Given the description of an element on the screen output the (x, y) to click on. 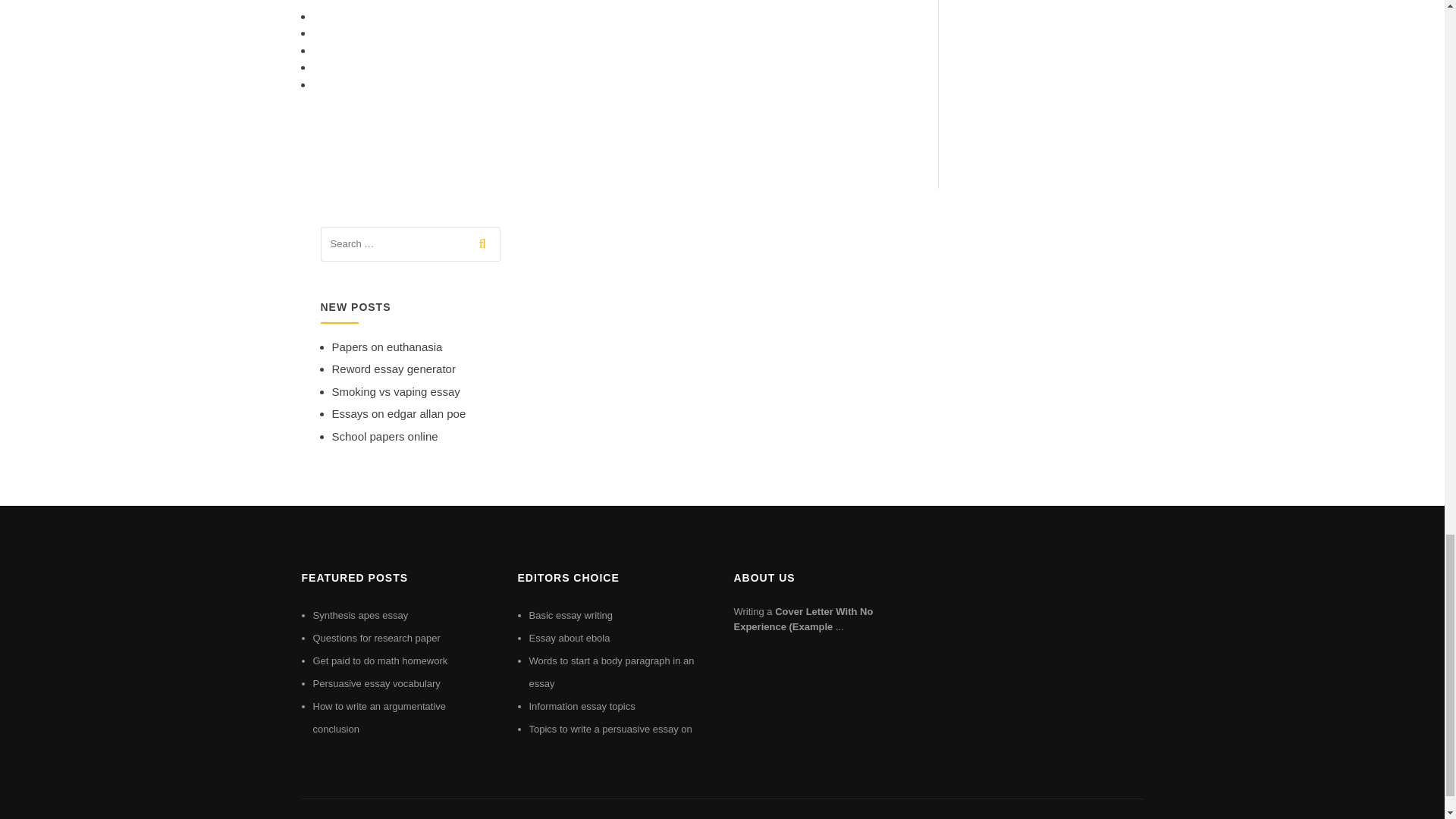
Essays on edgar allan poe (398, 413)
Words to start a body paragraph in an essay (611, 672)
School papers online (384, 436)
How to write an argumentative conclusion (379, 717)
Smoking vs vaping essay (395, 391)
Questions for research paper (376, 637)
Get paid to do math homework (379, 660)
Basic essay writing (570, 614)
Persuasive essay vocabulary (376, 683)
Synthesis apes essay (360, 614)
